Given the description of an element on the screen output the (x, y) to click on. 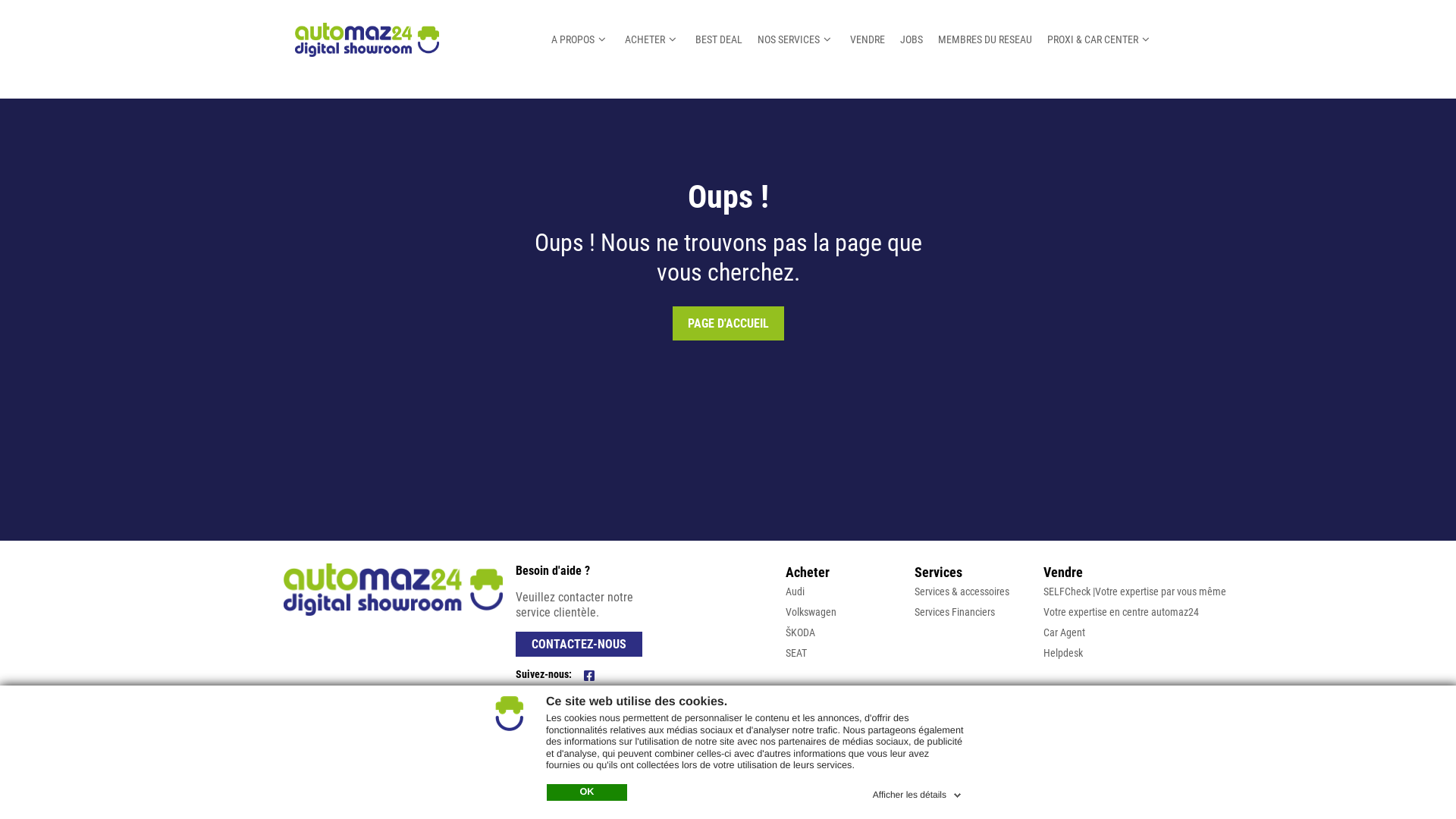
CARFLOW.PRO Element type: text (1134, 719)
VENDRE Element type: text (871, 39)
Services Financiers Element type: text (954, 611)
NOS SERVICES Element type: text (800, 39)
Votre expertise en centre automaz24 Element type: text (1120, 611)
OK Element type: text (586, 792)
Audi Element type: text (794, 591)
Services & accessoires Element type: text (961, 591)
BEST DEAL Element type: text (725, 39)
JOBS Element type: text (915, 39)
PAGE D'ACCUEIL Element type: text (727, 323)
Volkswagen Element type: text (810, 611)
Car Agent Element type: text (1064, 632)
PROXI & CAR CENTER Element type: text (1102, 39)
Helpdesk Element type: text (1062, 652)
A PROPOS Element type: text (592, 39)
CONTACTEZ-NOUS Element type: text (578, 643)
MEMBRES DU RESEAU Element type: text (988, 39)
ACHETER Element type: text (660, 39)
COOKIES Element type: text (480, 720)
SEAT Element type: text (795, 652)
